Given the description of an element on the screen output the (x, y) to click on. 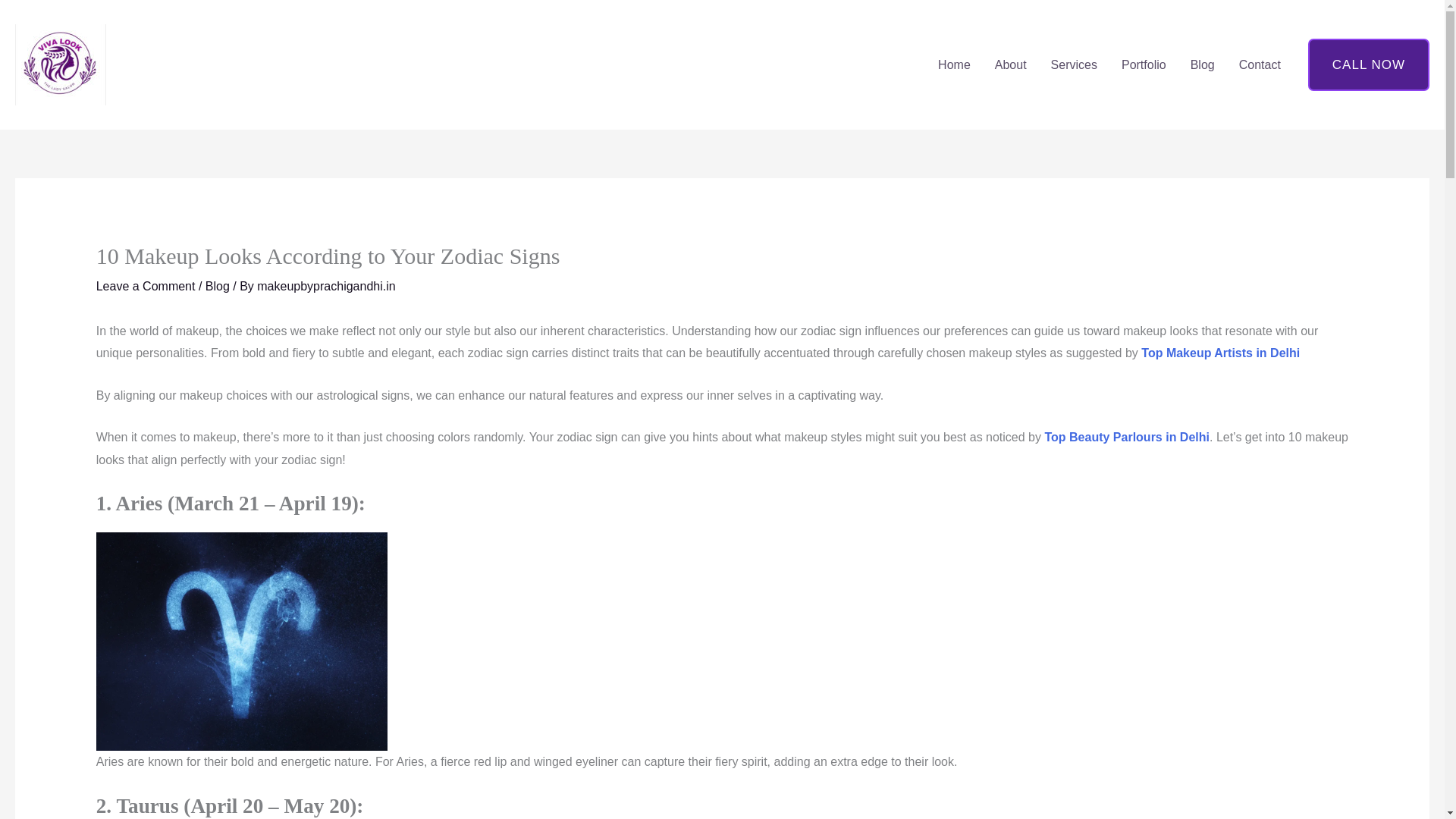
makeupbyprachigandhi.in (325, 286)
Top Makeup Artists in Delhi (1220, 352)
Home (954, 63)
Portfolio (1143, 63)
Services (1074, 63)
Leave a Comment (145, 286)
Contact (1259, 63)
Top Beauty Parlours in Delhi (1126, 436)
View all posts by makeupbyprachigandhi.in (325, 286)
CALL NOW (1368, 64)
